Given the description of an element on the screen output the (x, y) to click on. 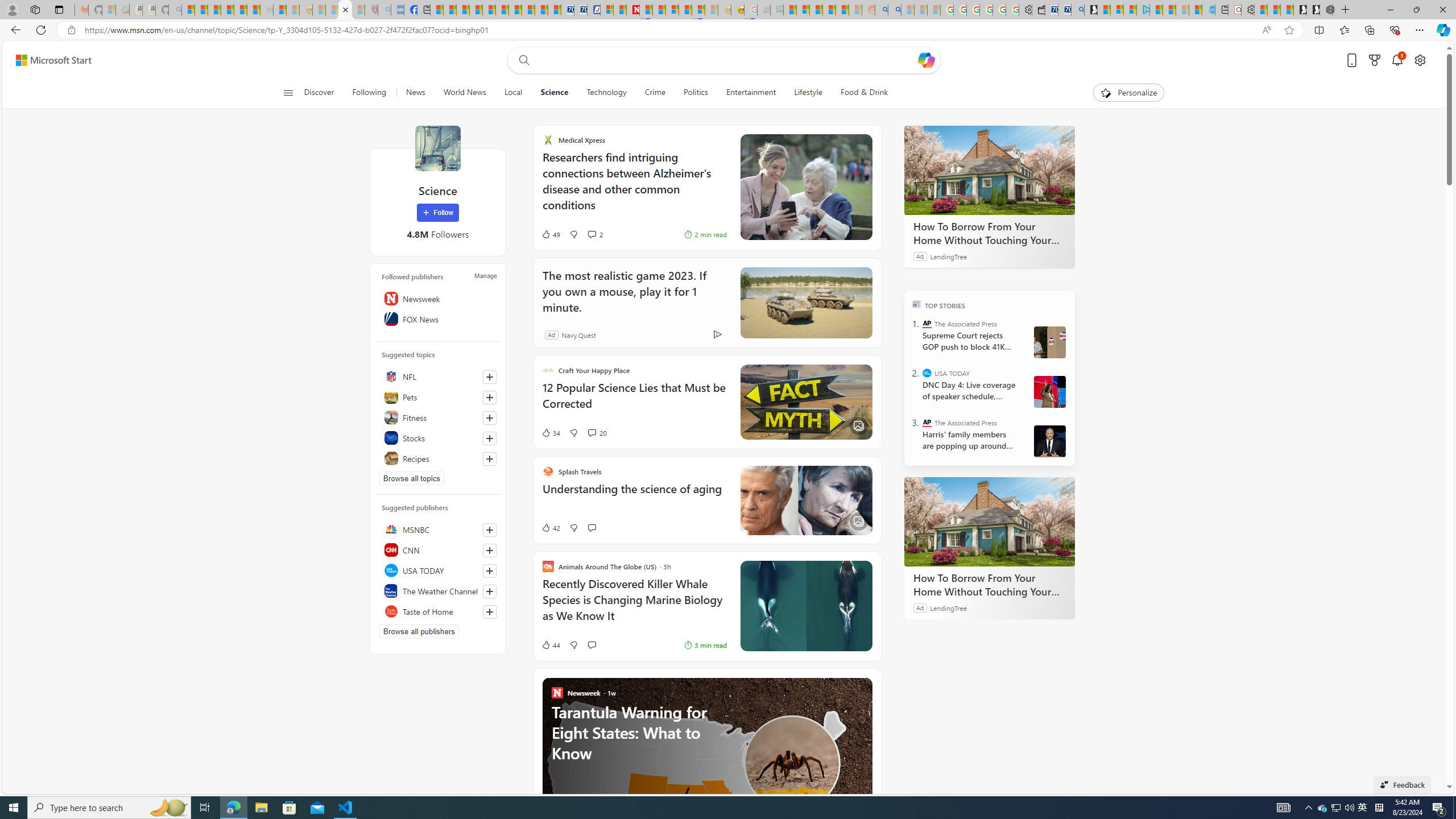
Utah sues federal government - Search (894, 9)
